Given the description of an element on the screen output the (x, y) to click on. 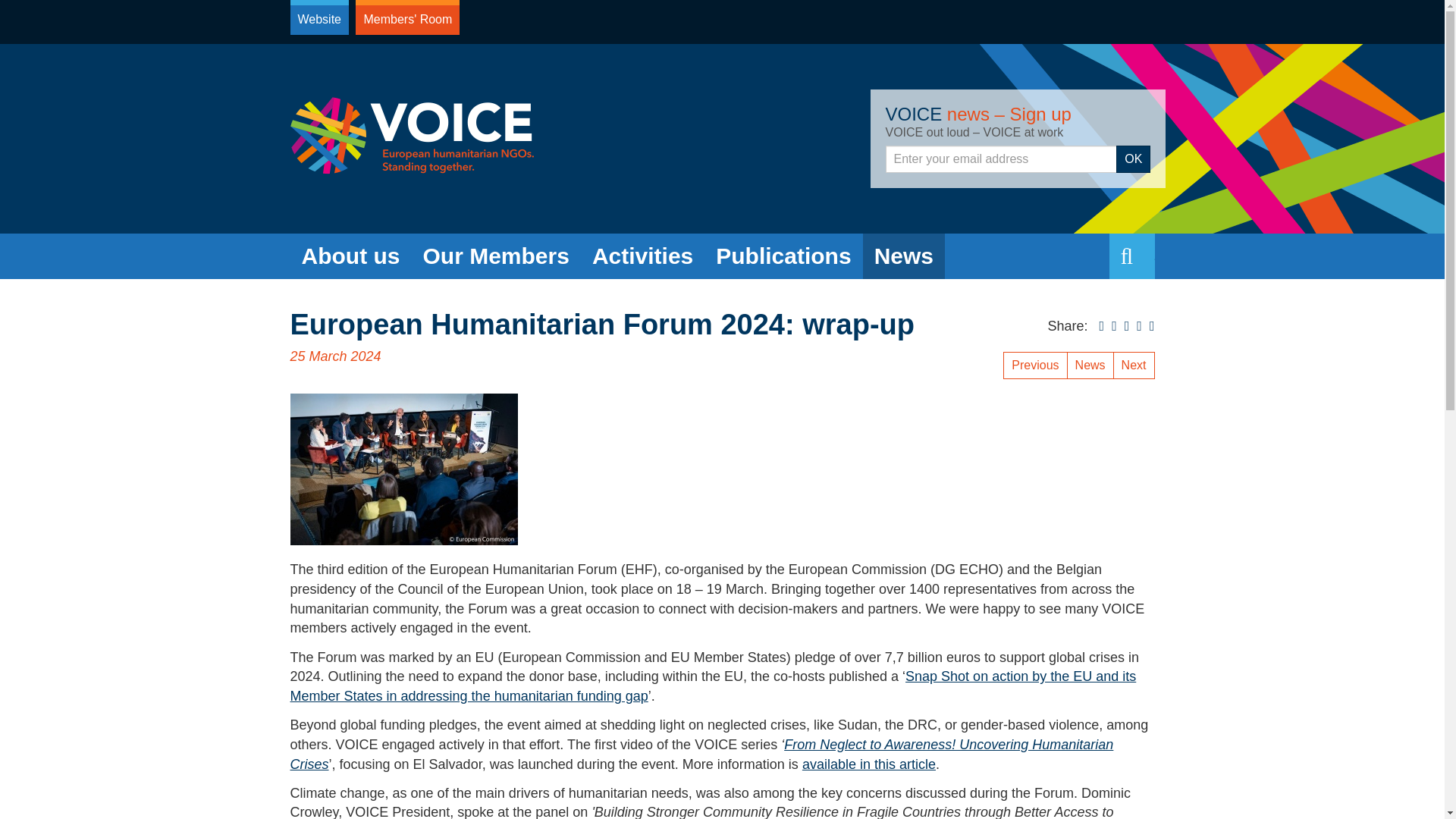
Members' Room (407, 17)
Publications (782, 256)
Our Members (494, 256)
Previous (1035, 365)
From Neglect to Awareness! Uncovering Humanitarian Crises (701, 754)
News (1090, 365)
News (903, 256)
Activities (642, 256)
About us (349, 256)
